Given the description of an element on the screen output the (x, y) to click on. 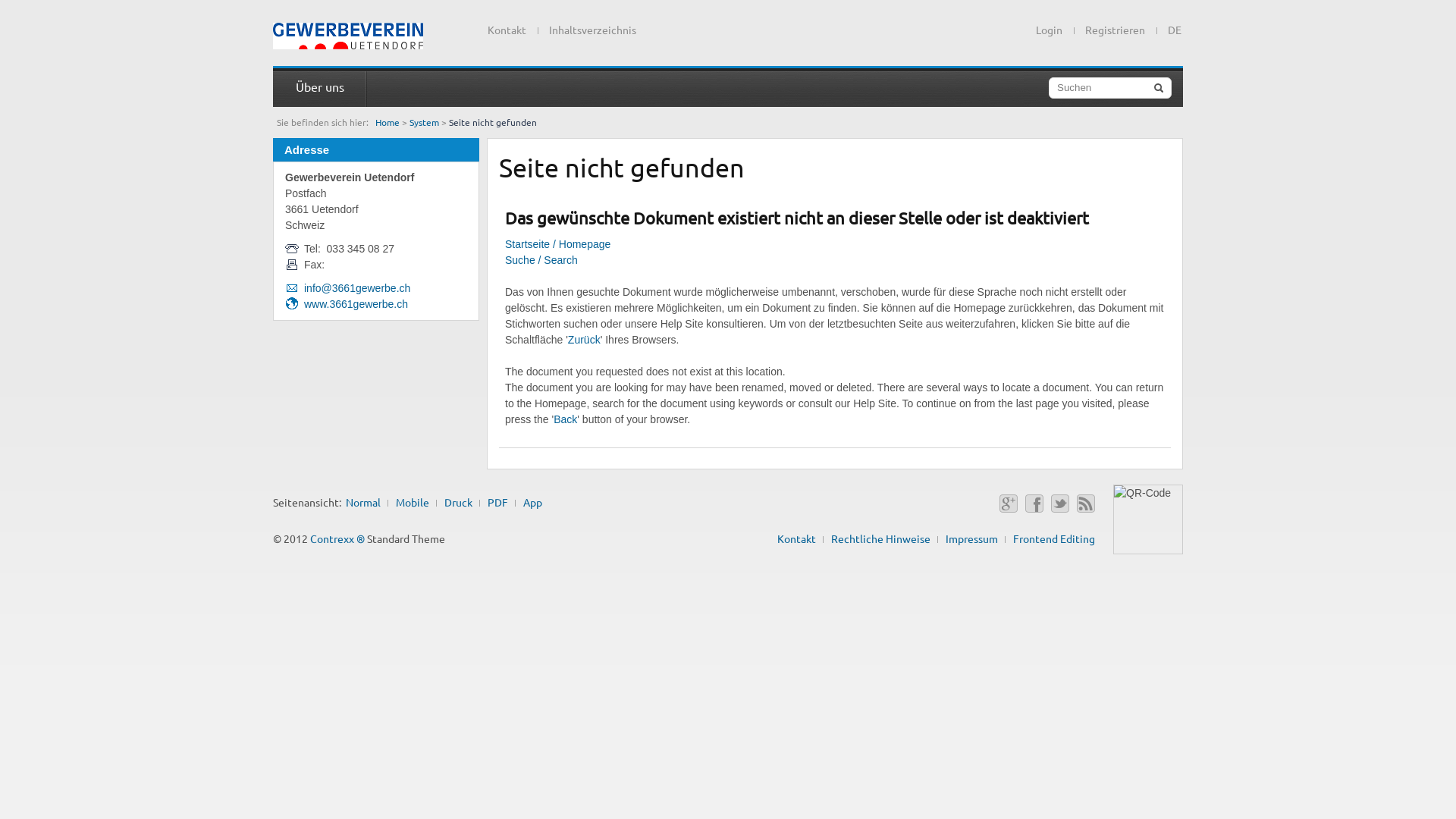
Home Element type: text (387, 122)
Rechtliche Hinweise Element type: text (880, 538)
Kontakt Element type: text (796, 538)
PDF Element type: text (497, 501)
Login Element type: text (1048, 29)
www.3661gewerbe.ch Element type: text (355, 304)
Back Element type: text (565, 419)
System Element type: text (424, 122)
Inhaltsverzeichnis Element type: text (592, 29)
Registrieren Element type: text (1115, 29)
DE Element type: text (1169, 27)
Frontend Editing Element type: text (1054, 538)
  Element type: text (348, 35)
Druck Element type: text (458, 501)
App Element type: text (532, 501)
Suchen Element type: text (1109, 87)
Suche / Search Element type: text (541, 260)
Startseite / Homepage Element type: text (557, 244)
Impressum Element type: text (971, 538)
Mobile Element type: text (412, 501)
info@3661gewerbe.ch Element type: text (357, 288)
Normal Element type: text (362, 501)
Kontakt Element type: text (506, 29)
